Given the description of an element on the screen output the (x, y) to click on. 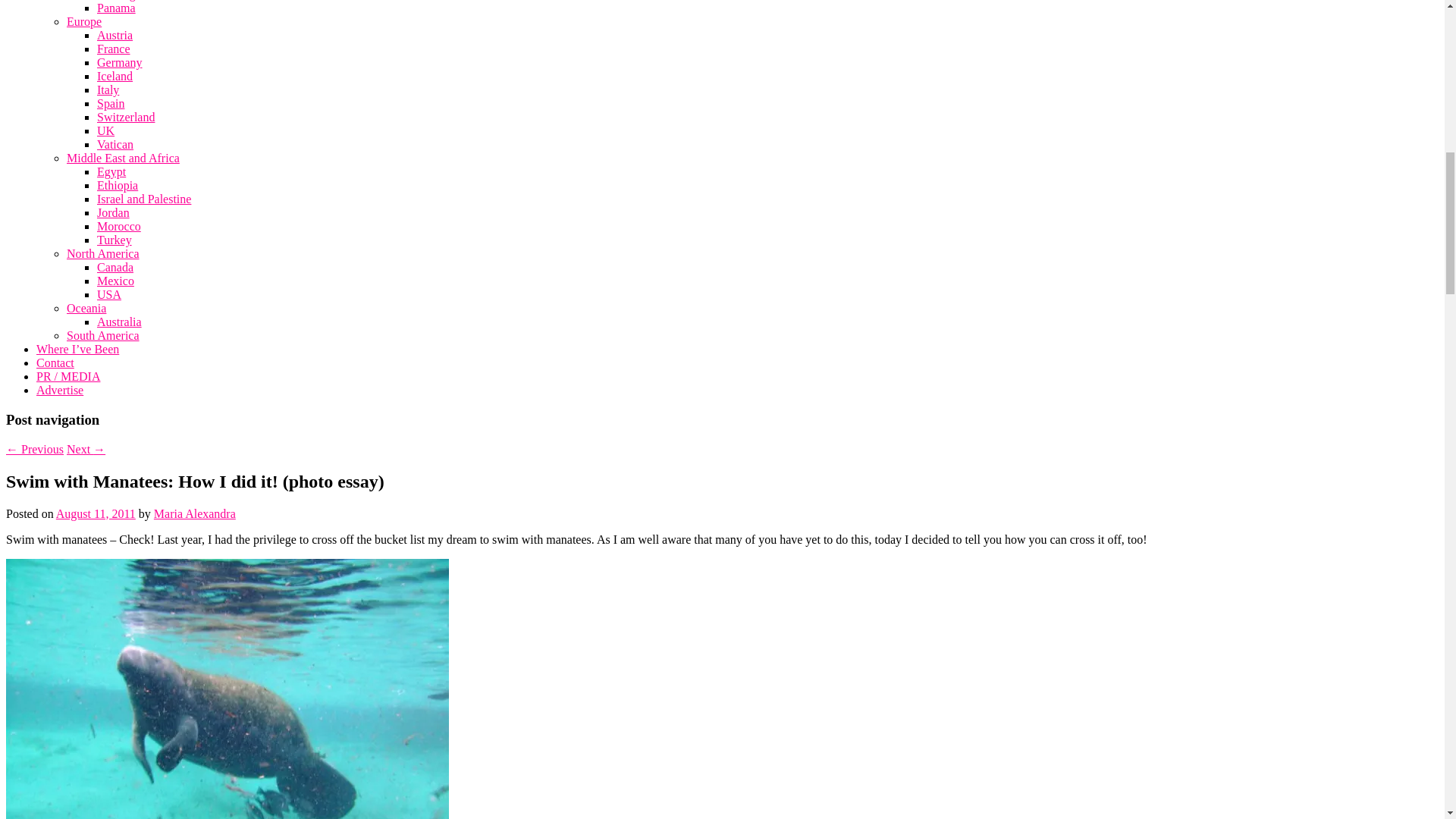
12:10 PM (95, 513)
swim with manatees (226, 688)
View all posts by Maria Alexandra (194, 513)
